Given the description of an element on the screen output the (x, y) to click on. 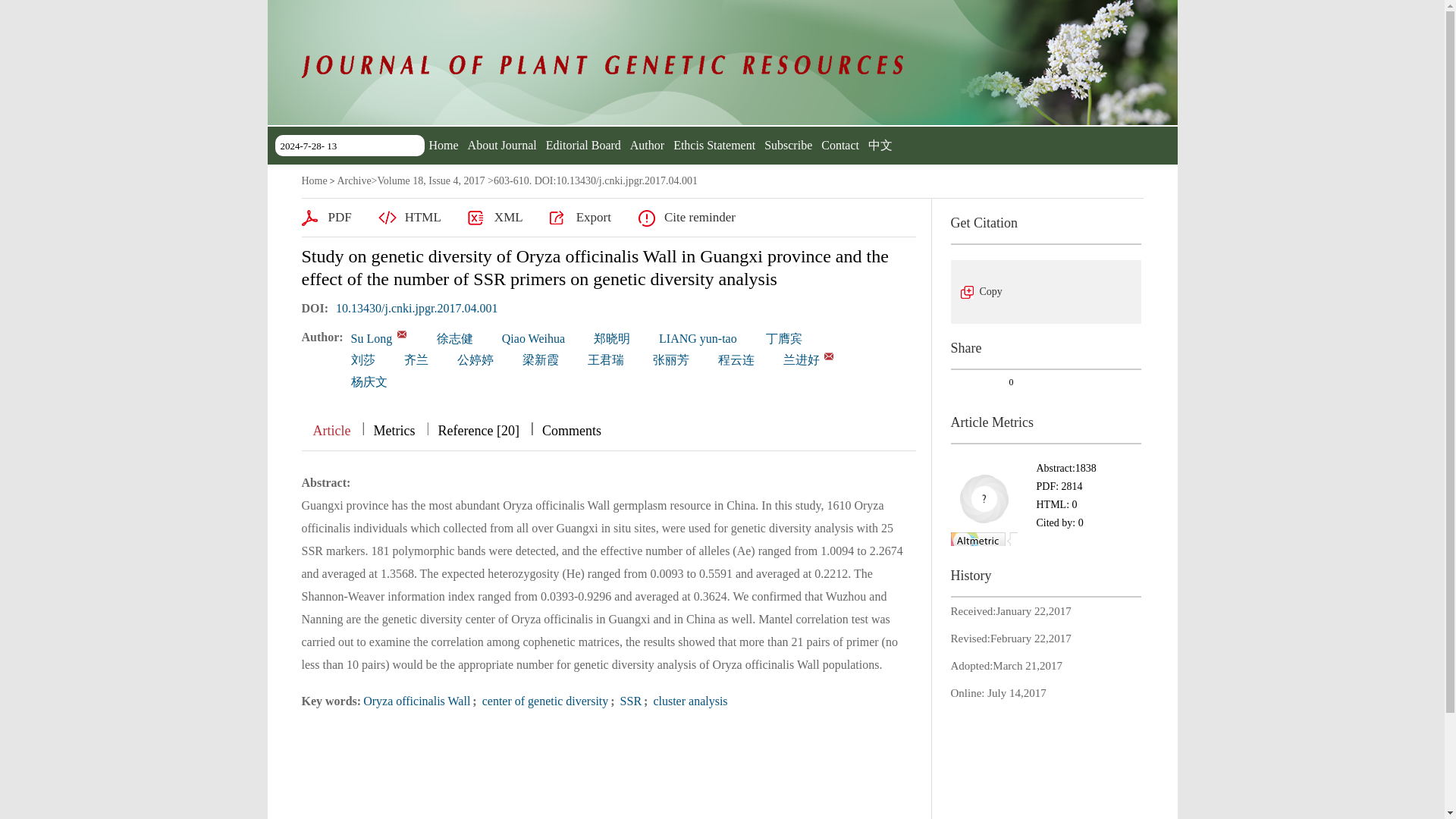
Ethcis Statement (713, 144)
Su Long (371, 338)
Archive (353, 180)
Contact (840, 144)
Cite reminder (686, 217)
Volume 18, Issue 4, 2017 (430, 180)
HTML (409, 217)
PDF (326, 217)
XML (494, 217)
Export (580, 217)
Editorial Board (583, 144)
Home (443, 144)
Home (314, 180)
Author (646, 144)
Subscribe (788, 144)
